Given the description of an element on the screen output the (x, y) to click on. 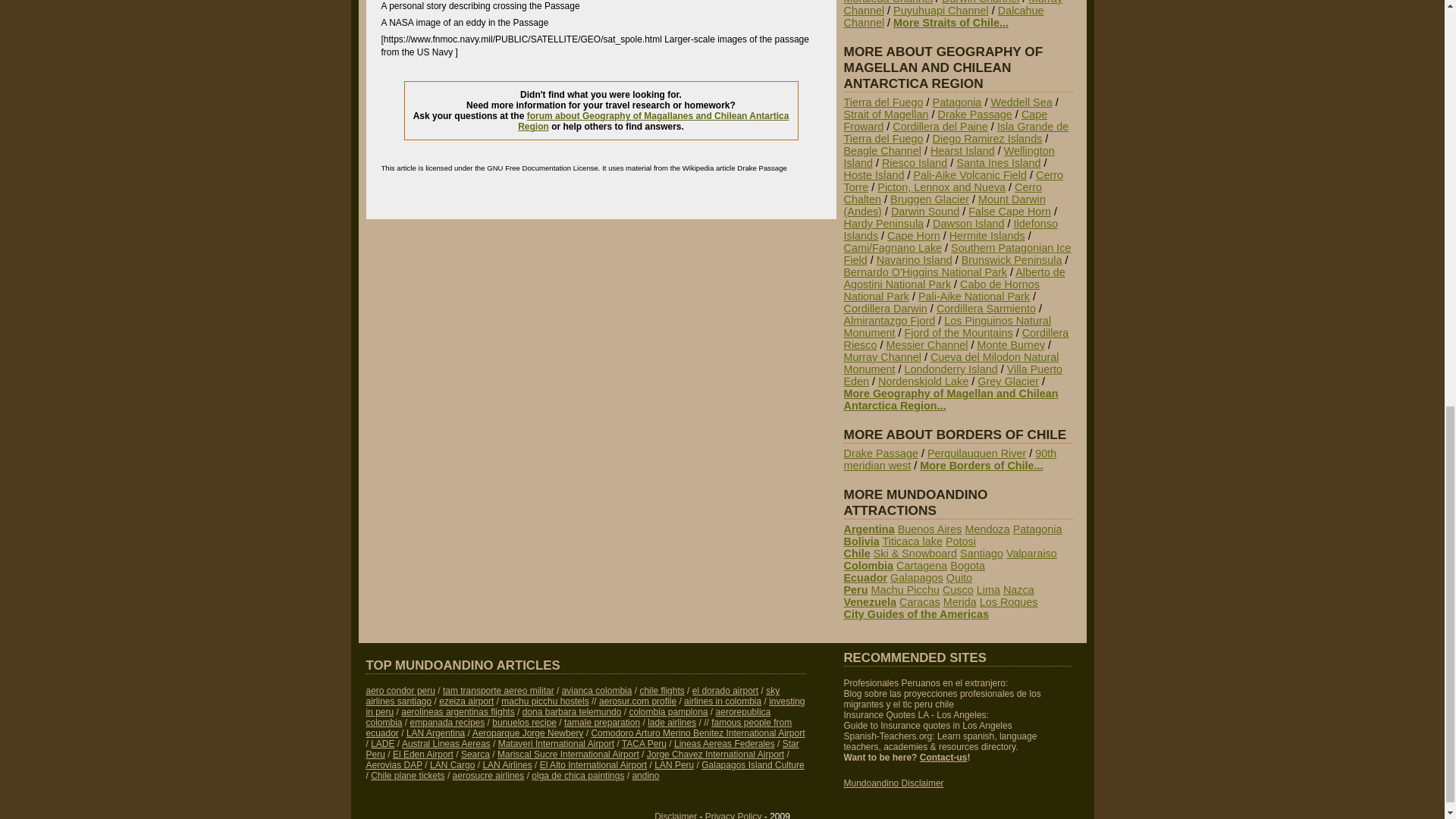
ministro pistarini - ezeiza airport (466, 701)
Aerosur Bolivia Airline (637, 701)
Airlines of Chile (571, 695)
Airlines of Bolivia (498, 690)
Airlines of Chile, tickets, flights (661, 690)
Airlines of Colombia (596, 690)
Peru Economy (585, 706)
Bogota airport (725, 690)
Airlines of Argentina (457, 711)
Airlines of Peru (399, 690)
SAM Colombia airlines (722, 701)
machu picchu (544, 701)
